Given the description of an element on the screen output the (x, y) to click on. 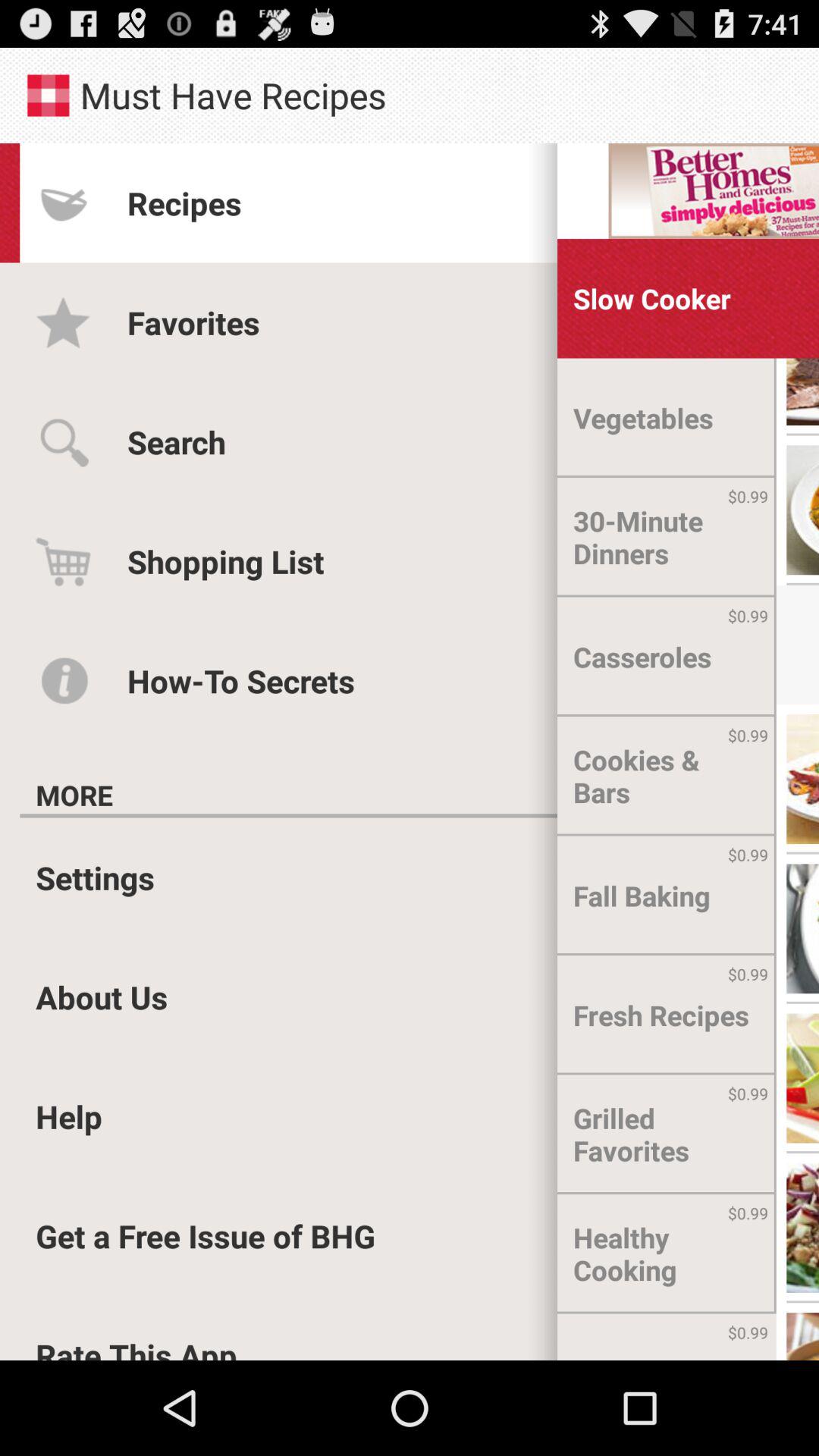
press the icon below settings icon (101, 996)
